Given the description of an element on the screen output the (x, y) to click on. 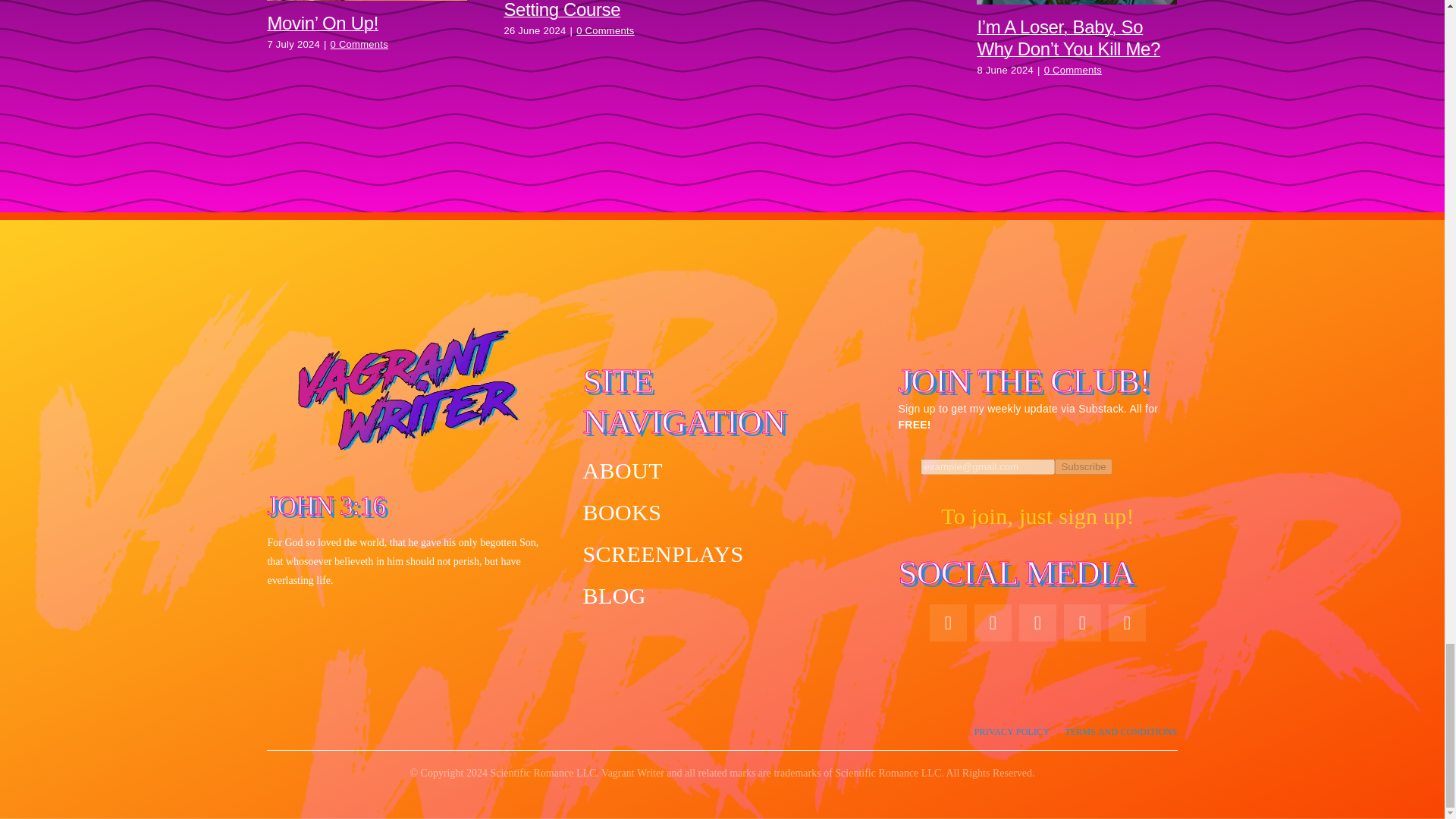
BOOKS (721, 512)
ABOUT (721, 470)
Subscribe (1037, 473)
Setting Course (561, 9)
Subscribe (1083, 466)
BLOG (721, 595)
SCREENPLAYS (721, 553)
0 Comments (604, 30)
0 Comments (359, 43)
0 Comments (1072, 70)
